Given the description of an element on the screen output the (x, y) to click on. 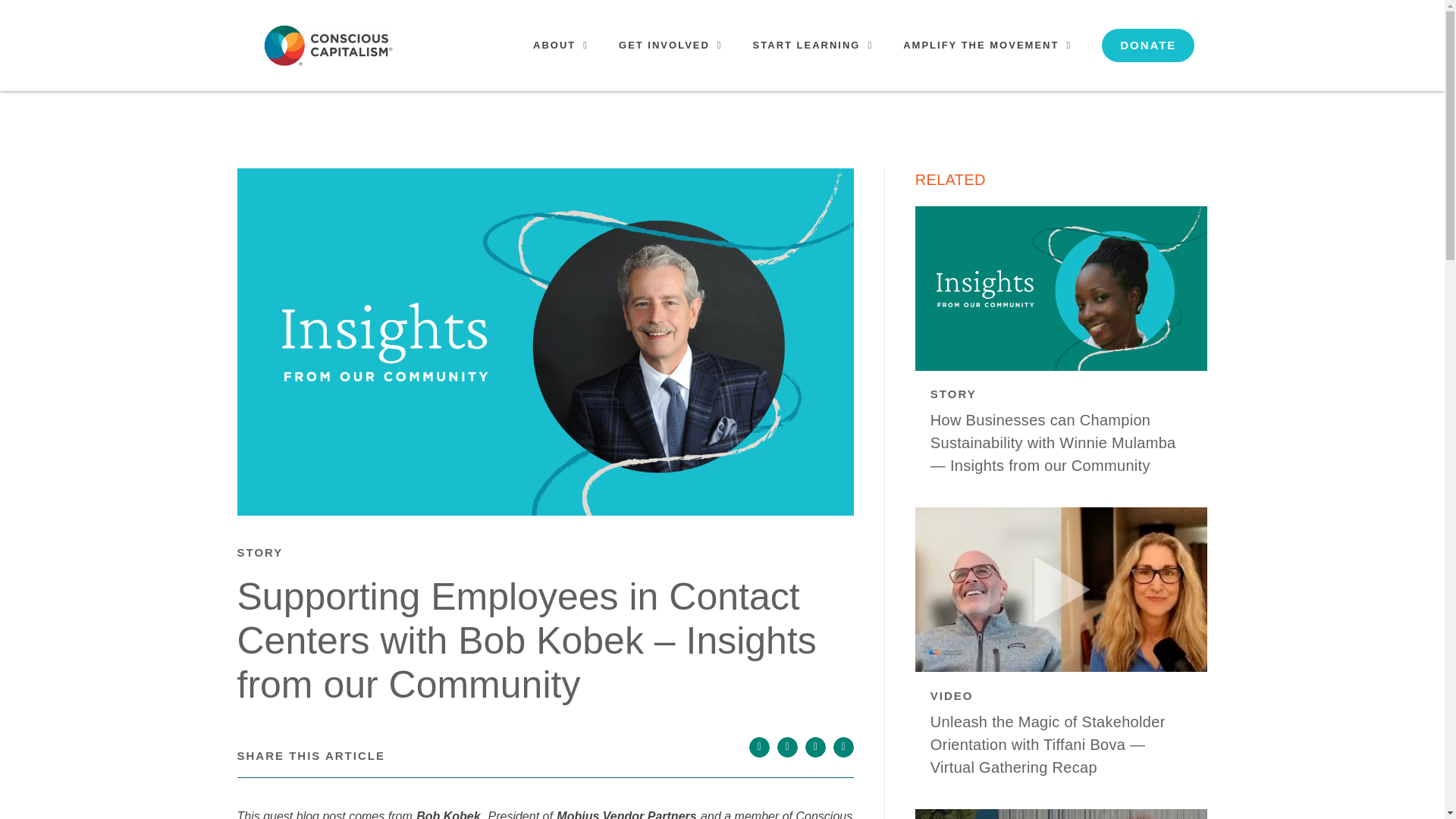
GET INVOLVED (671, 45)
DONATE (1147, 45)
ABOUT (561, 45)
START LEARNING (813, 45)
AMPLIFY THE MOVEMENT (987, 45)
